Given the description of an element on the screen output the (x, y) to click on. 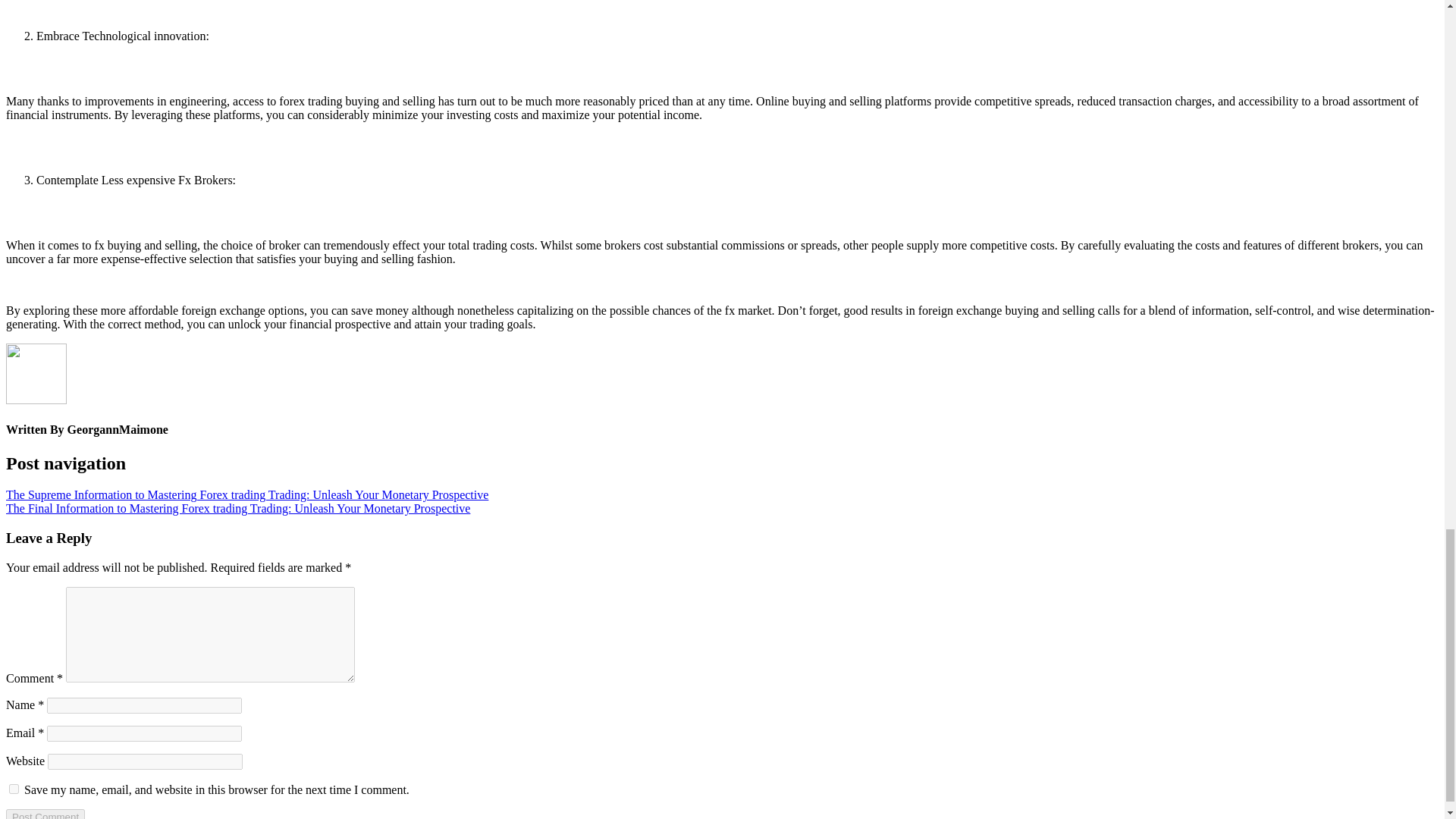
yes (13, 788)
